Given the description of an element on the screen output the (x, y) to click on. 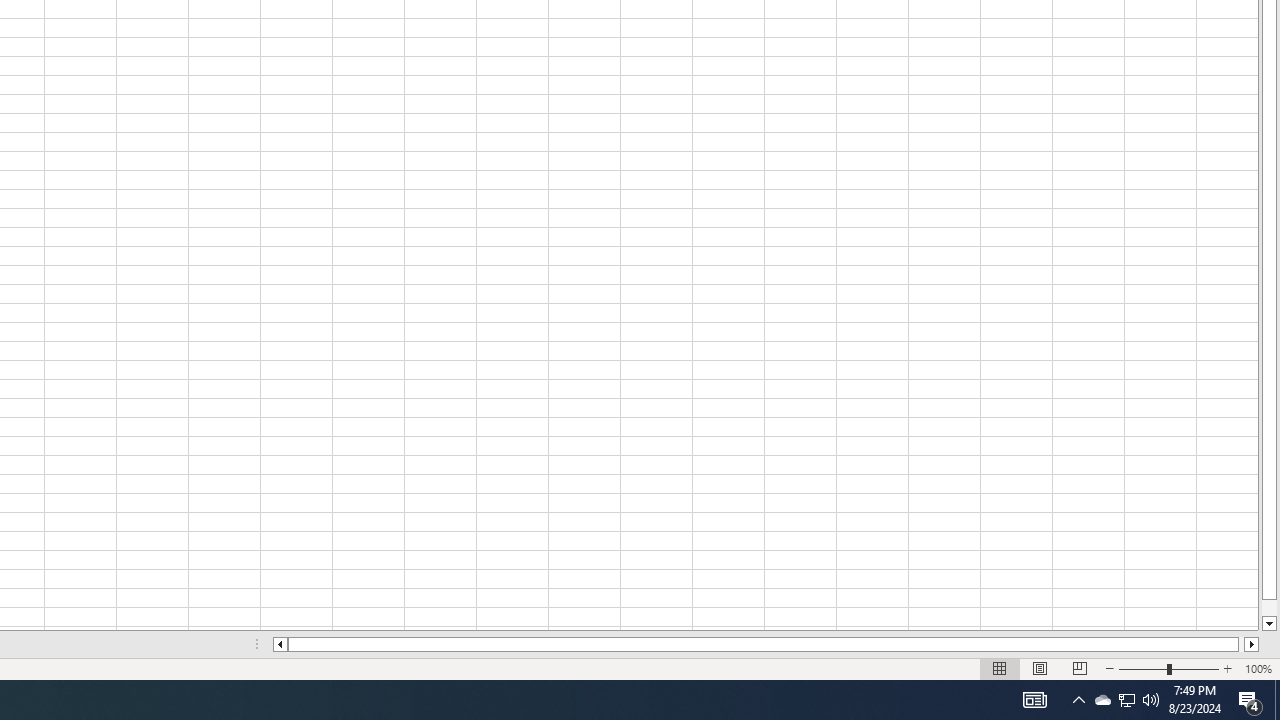
Show desktop (1126, 699)
Zoom (1277, 699)
User Promoted Notification Area (1168, 668)
Zoom In (1126, 699)
